Given the description of an element on the screen output the (x, y) to click on. 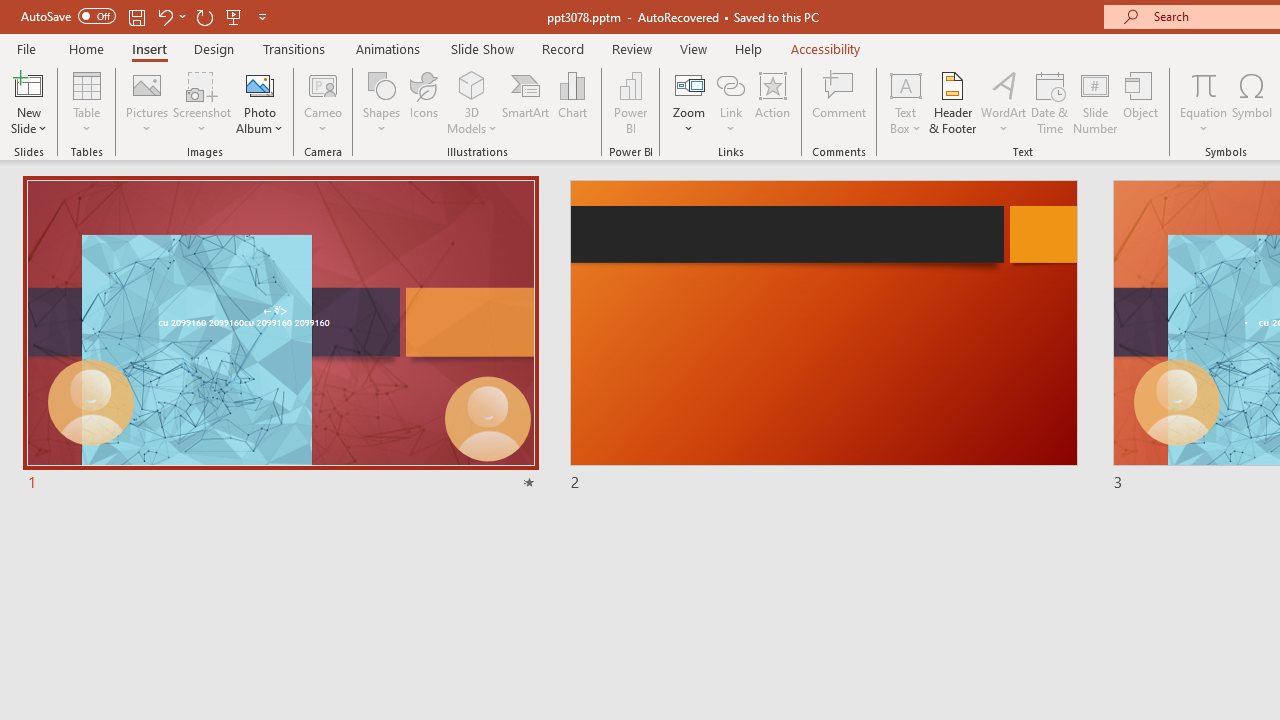
Action (772, 102)
Header & Footer... (952, 102)
Power BI (630, 102)
New Photo Album... (259, 84)
Draw Horizontal Text Box (905, 84)
Equation (1203, 84)
3D Models (472, 102)
